Given the description of an element on the screen output the (x, y) to click on. 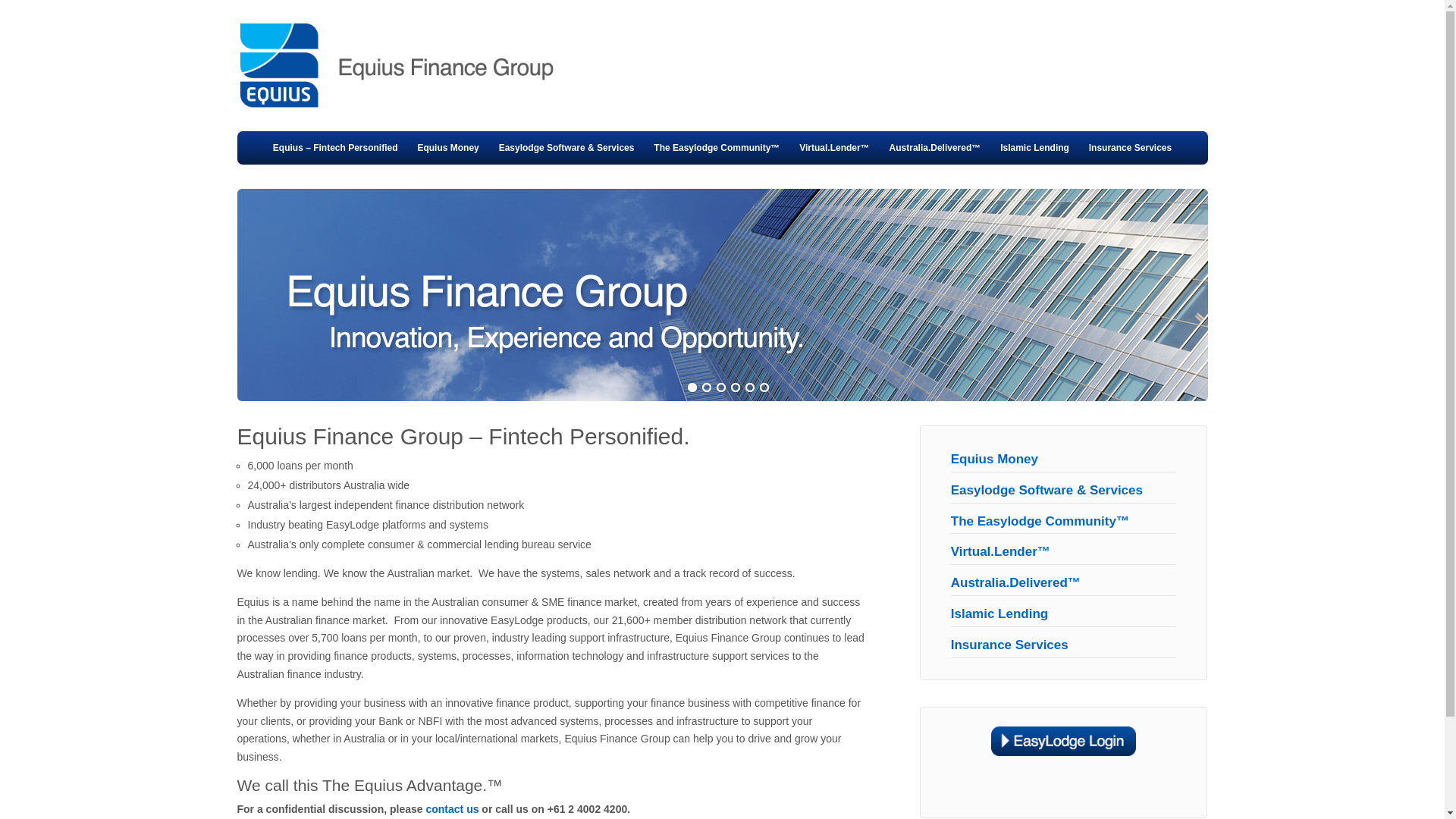
Equius Money Element type: text (447, 147)
Islamic Lending Element type: text (999, 613)
3 Element type: text (720, 387)
1 Element type: text (692, 387)
Easylodge Software & Services Element type: text (1046, 490)
Insurance Services Element type: text (1009, 644)
contact us Element type: text (451, 809)
Equius Money Element type: text (994, 458)
2 Element type: text (705, 387)
6 Element type: text (763, 387)
Islamic Lending Element type: text (1034, 147)
5 Element type: text (749, 387)
Easylodge Software & Services Element type: text (566, 147)
4 Element type: text (734, 387)
Insurance Services Element type: text (1129, 147)
